Given the description of an element on the screen output the (x, y) to click on. 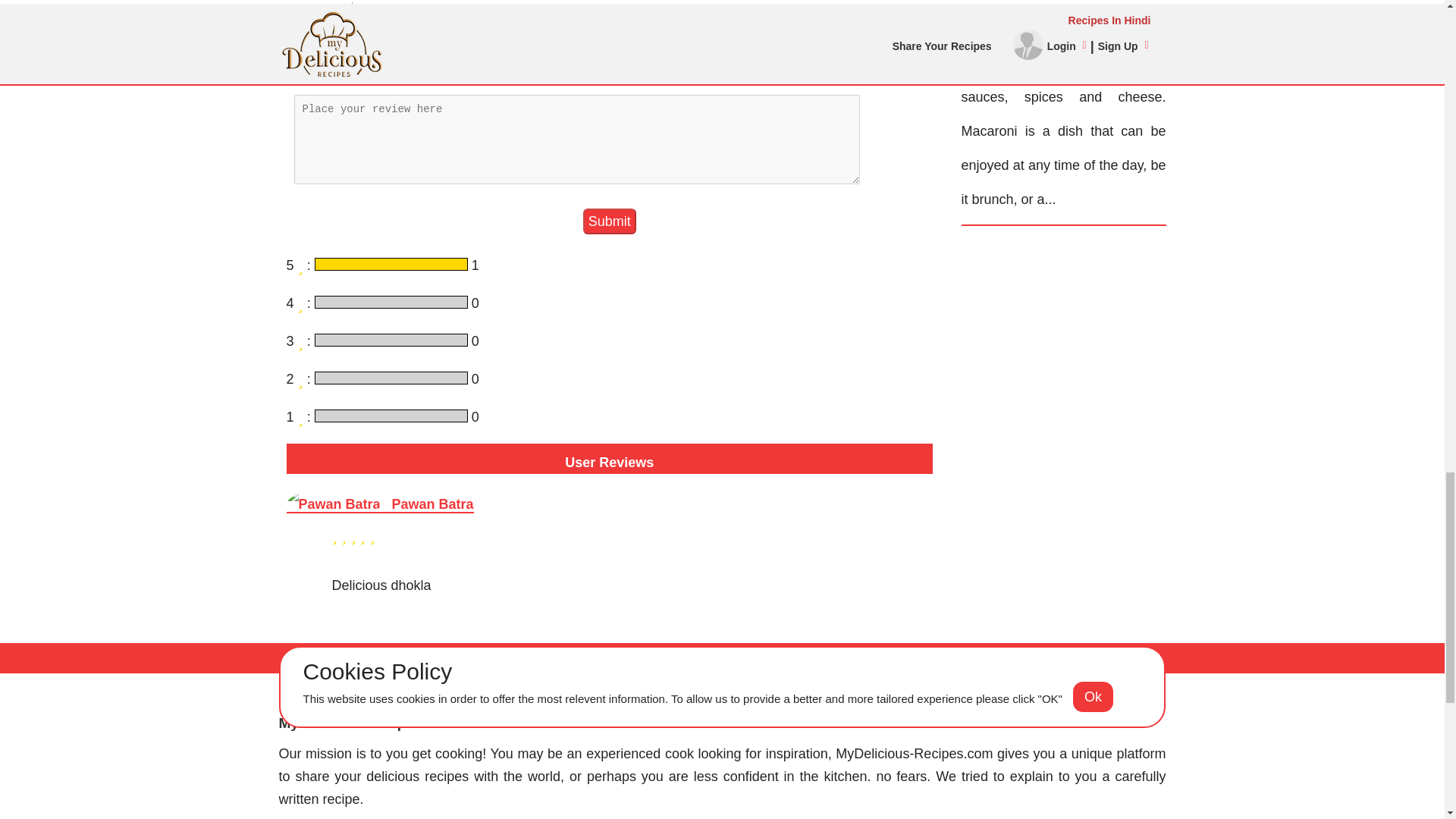
Submit (609, 221)
